Given the description of an element on the screen output the (x, y) to click on. 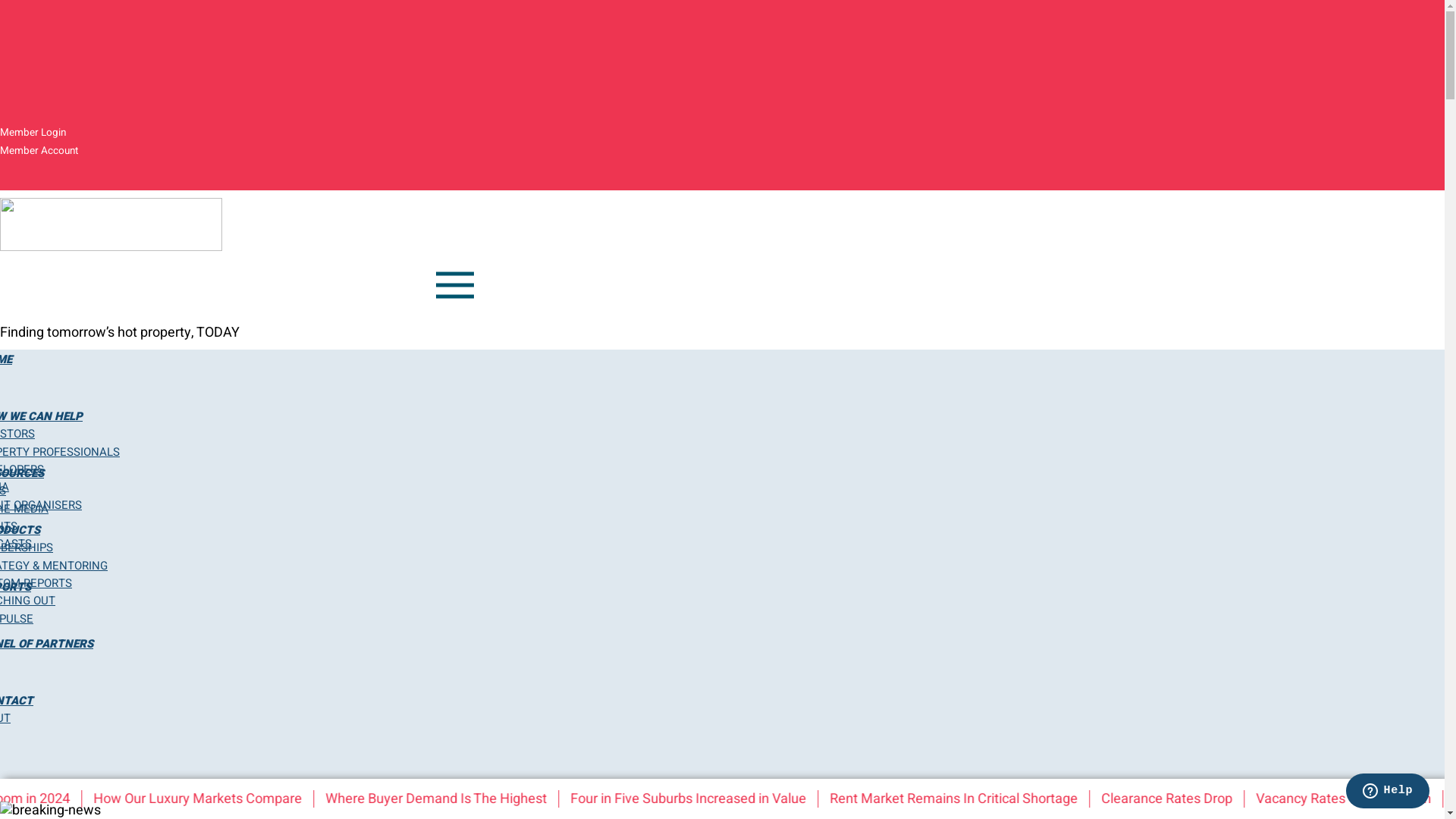
Vacancy Rates Tumble Again Element type: text (1364, 798)
Clearance Rates Drop Element type: text (1188, 798)
Member Account Element type: text (39, 150)
Opens a widget where you can chat to one of our agents Element type: hover (1387, 792)
Four in Five Suburbs Increased in Value Element type: text (710, 798)
Where Buyer Demand Is The Highest Element type: text (459, 798)
Member Login Element type: text (32, 132)
How Our Luxury Markets Compare Element type: text (220, 798)
Rent Market Remains In Critical Shortage Element type: text (975, 798)
